Given the description of an element on the screen output the (x, y) to click on. 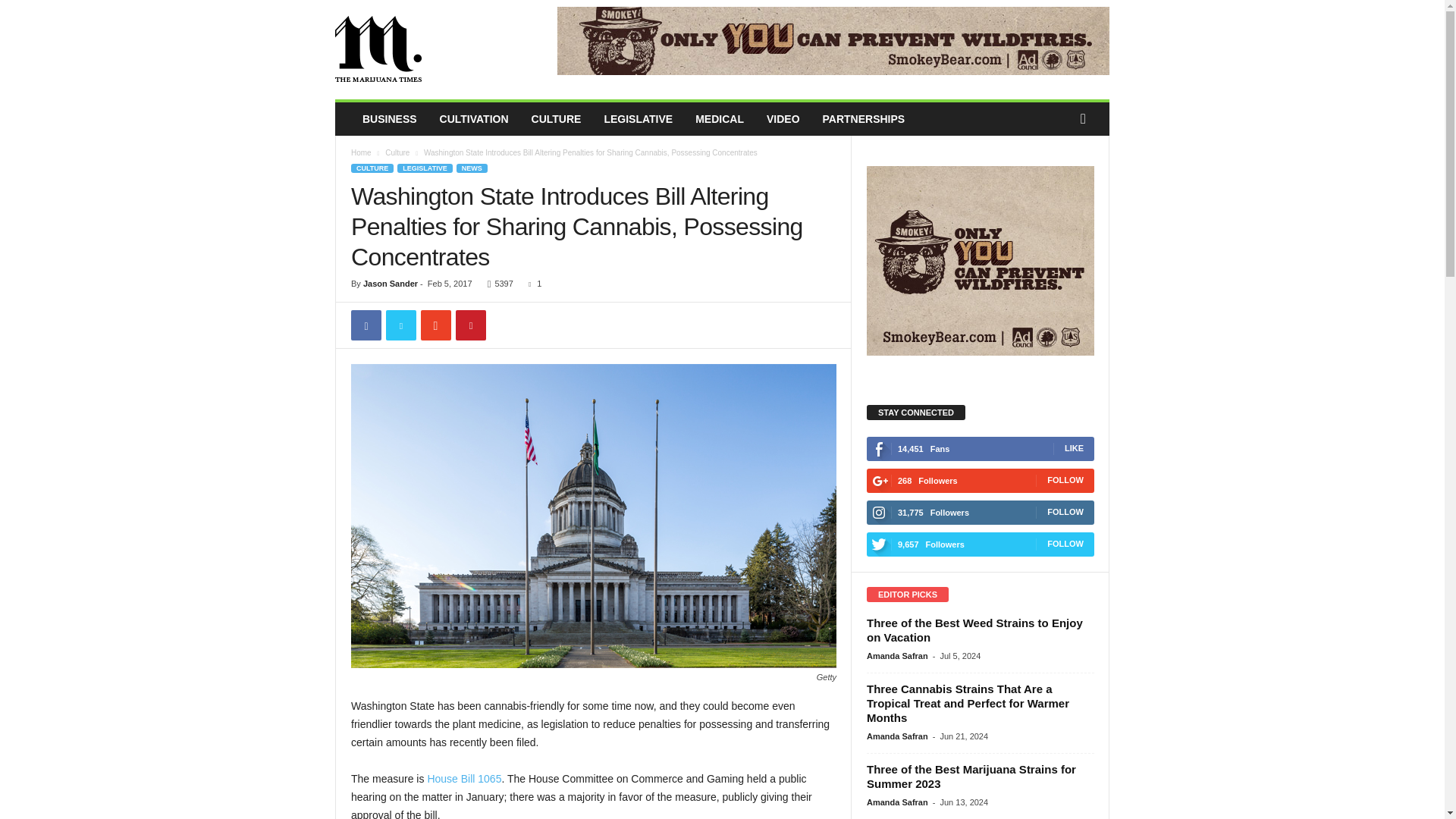
CULTURE (555, 118)
MEDICAL (719, 118)
MarijuanaTimes.org (437, 49)
BUSINESS (389, 118)
PARTNERSHIPS (863, 118)
The Marijuana Times (437, 49)
Home (360, 152)
LEGISLATIVE (638, 118)
CULTIVATION (473, 118)
VIDEO (782, 118)
LEGISLATIVE (424, 167)
CULTURE (371, 167)
View all posts in Culture (397, 152)
Jason Sander (389, 283)
